Given the description of an element on the screen output the (x, y) to click on. 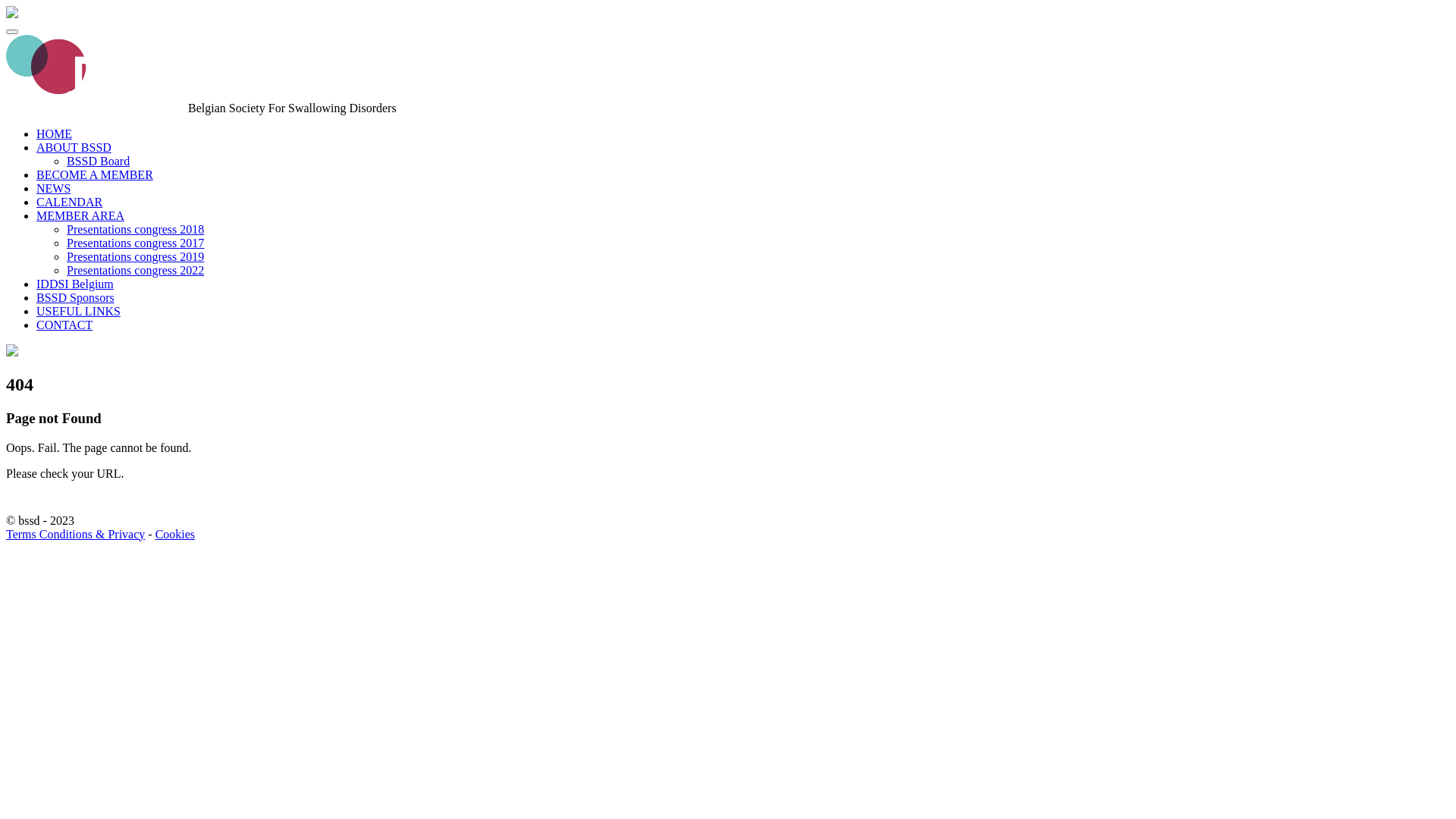
IDDSI Belgium Element type: text (74, 283)
Presentations congress 2019 Element type: text (134, 256)
Presentations congress 2022 Element type: text (134, 269)
CALENDAR Element type: text (69, 201)
ABOUT BSSD Element type: text (73, 147)
NEWS Element type: text (53, 188)
HOME Element type: text (54, 133)
Belgian Society For Swallowing Disorders Element type: hover (12, 13)
CONTACT Element type: text (64, 324)
Presentations congress 2017 Element type: text (134, 242)
Belgian Society For Swallowing Disorders Element type: hover (95, 107)
MEMBER AREA Element type: text (80, 215)
USEFUL LINKS Element type: text (78, 310)
Presentations congress 2018 Element type: text (134, 228)
BECOME A MEMBER Element type: text (94, 174)
Cookies Element type: text (174, 533)
BSSD Board Element type: text (97, 160)
BSSD Sponsors Element type: text (75, 297)
Terms Conditions & Privacy Element type: text (75, 533)
